Given the description of an element on the screen output the (x, y) to click on. 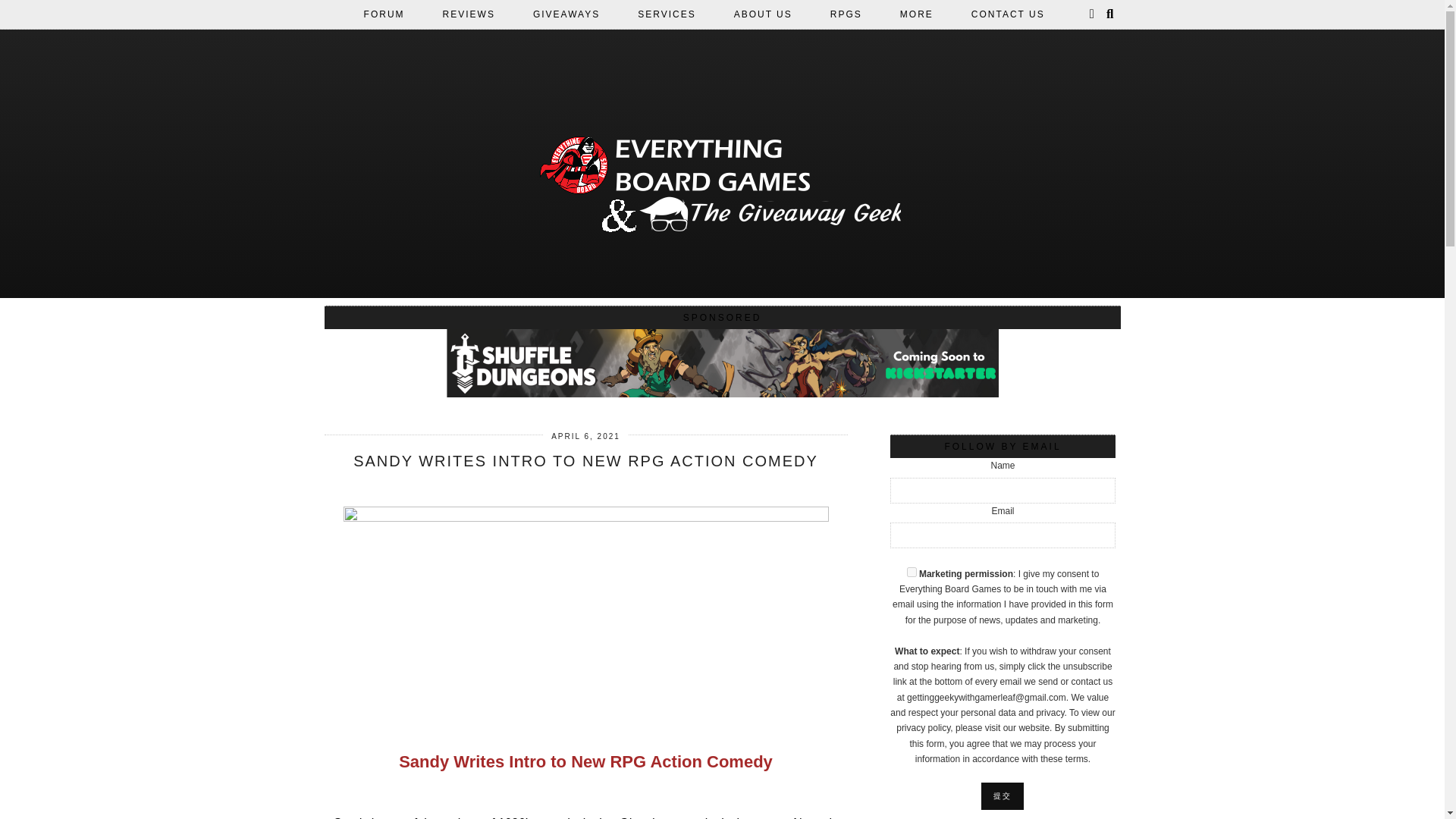
CONTACT US (1008, 14)
REVIEWS (468, 14)
RPGS (845, 14)
ABOUT US (762, 14)
GIVEAWAYS (565, 14)
SERVICES (666, 14)
on (912, 572)
MORE (916, 14)
FORUM (384, 14)
